Given the description of an element on the screen output the (x, y) to click on. 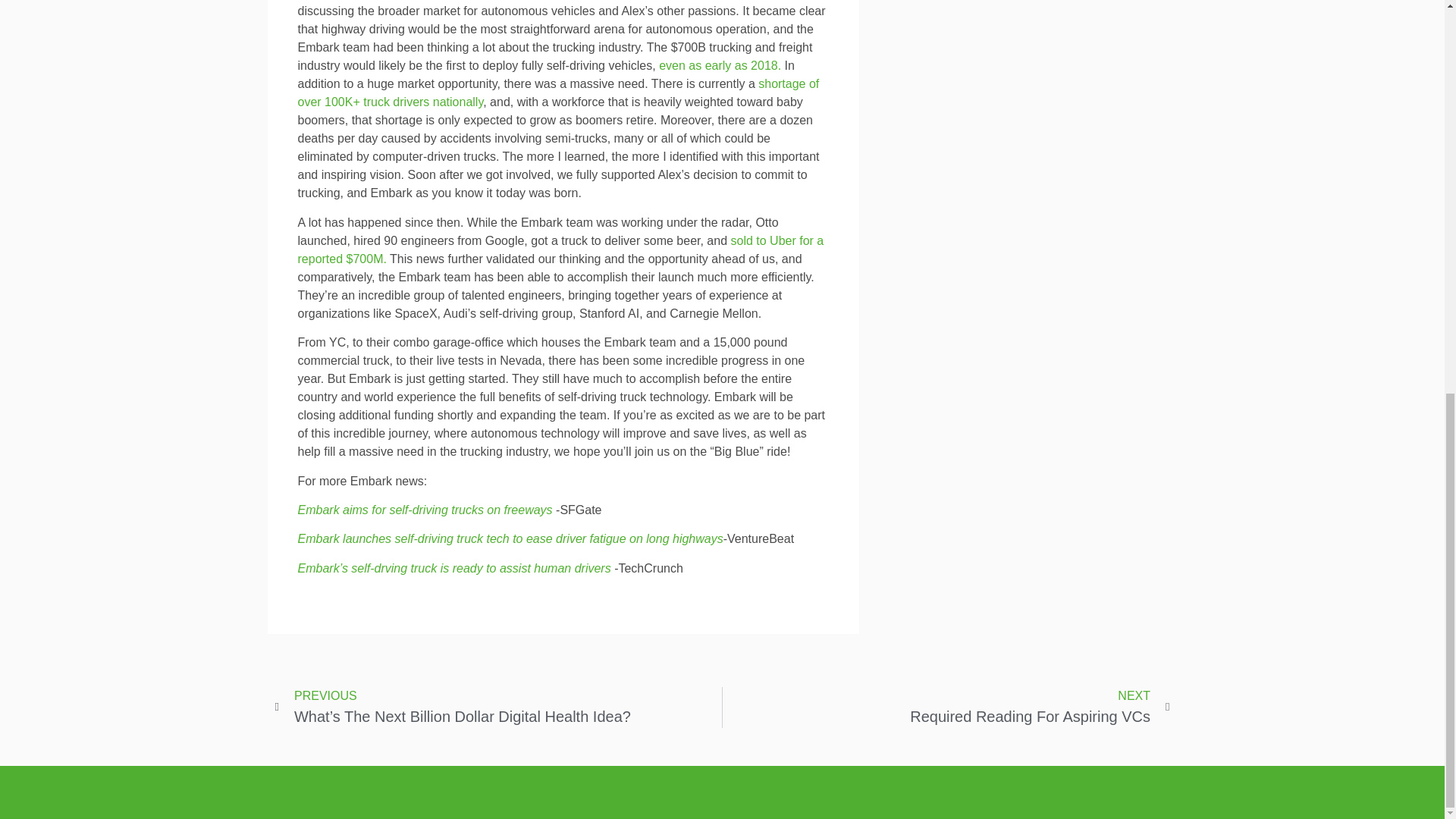
Embark aims for self-driving trucks on freeways (946, 707)
even as early as 2018. (424, 509)
